Given the description of an element on the screen output the (x, y) to click on. 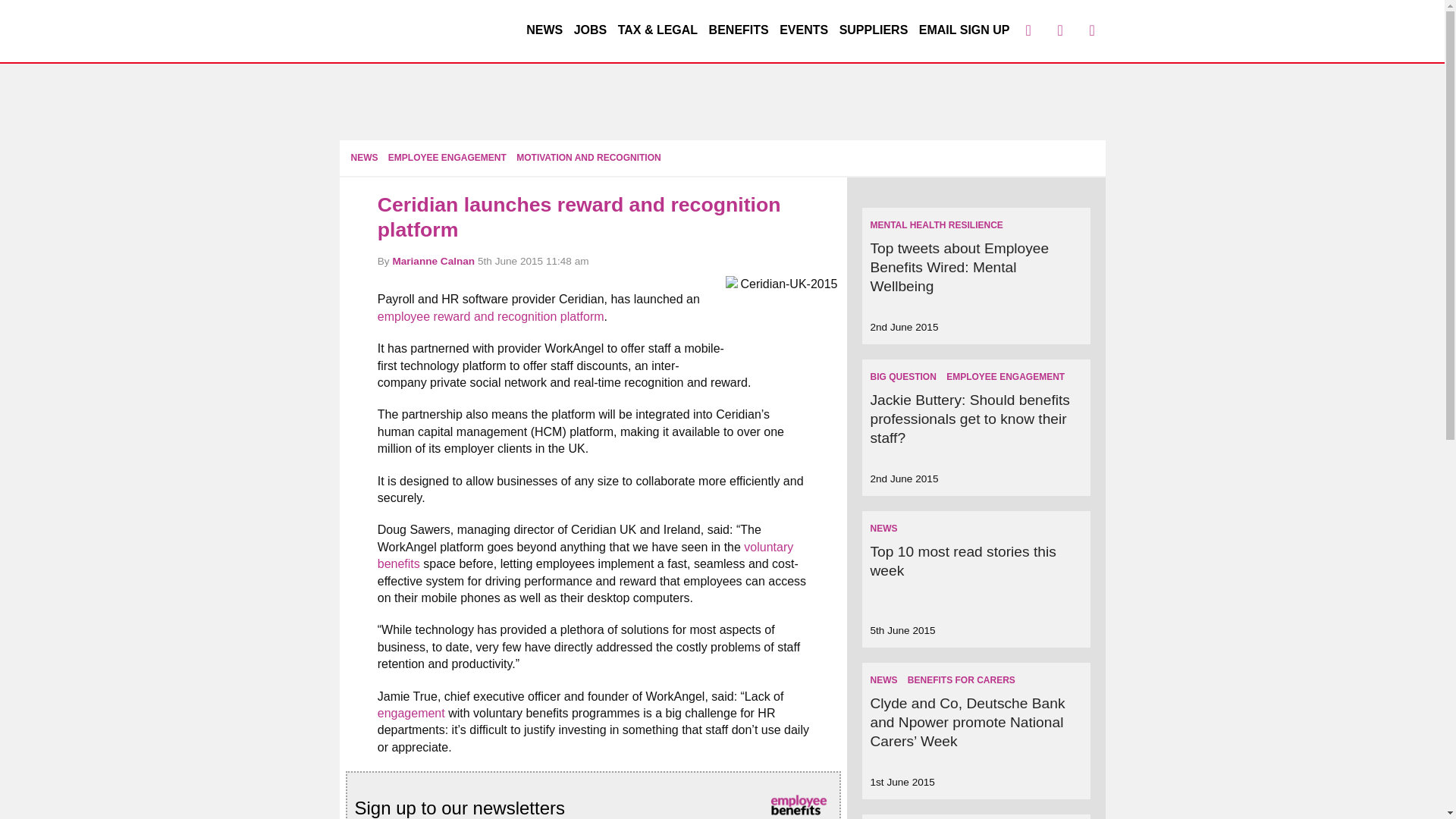
BENEFITS FOR CARERS (960, 679)
NEWS (363, 157)
MENTAL HEALTH RESILIENCE (936, 225)
Posts by Marianne Calnan (432, 260)
engagement (411, 712)
JOBS (590, 29)
BENEFITS (738, 29)
employee reward and recognition platform (490, 316)
voluntary benefits (585, 555)
EVENTS (803, 29)
